Given the description of an element on the screen output the (x, y) to click on. 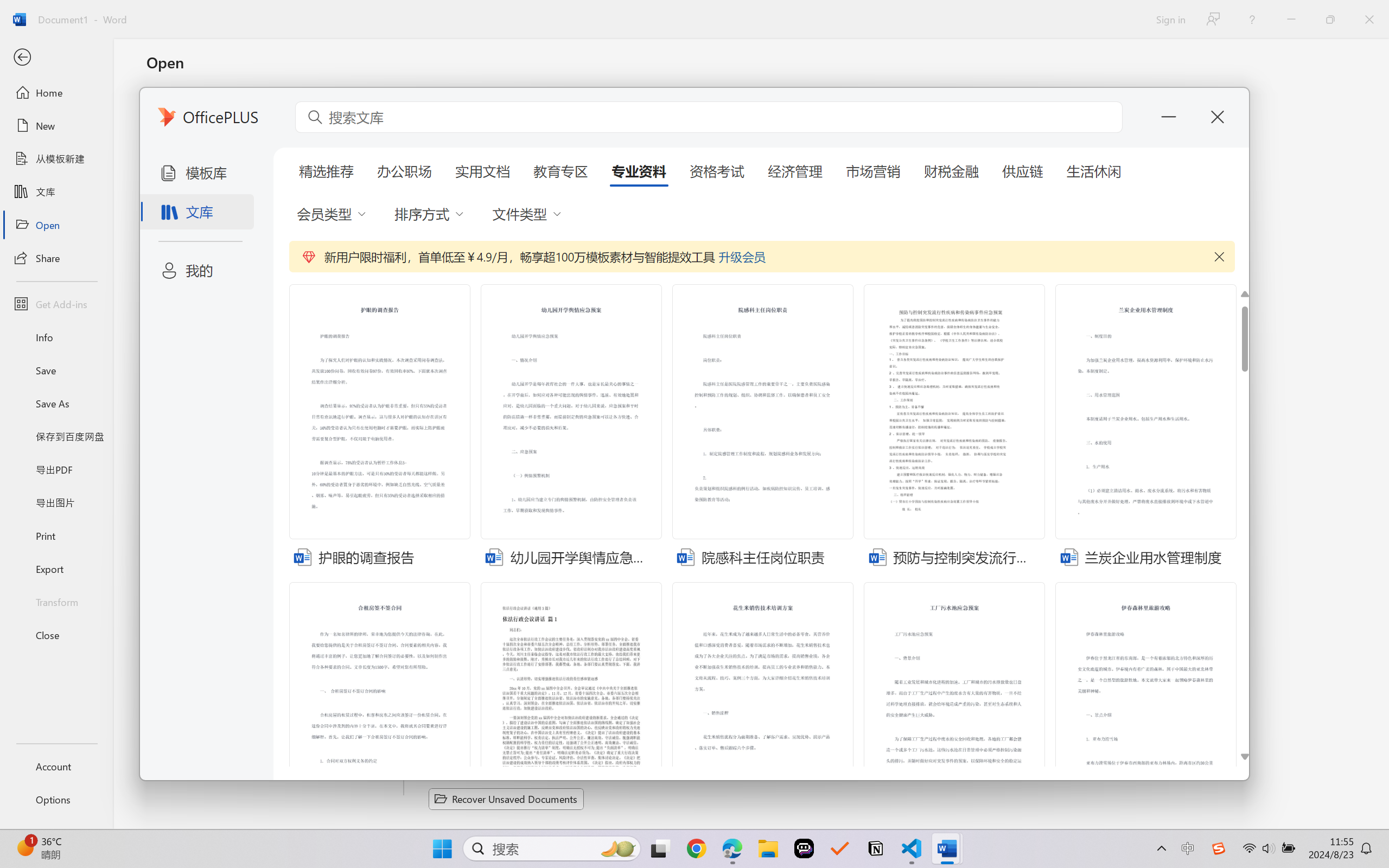
Print (56, 535)
